Given the description of an element on the screen output the (x, y) to click on. 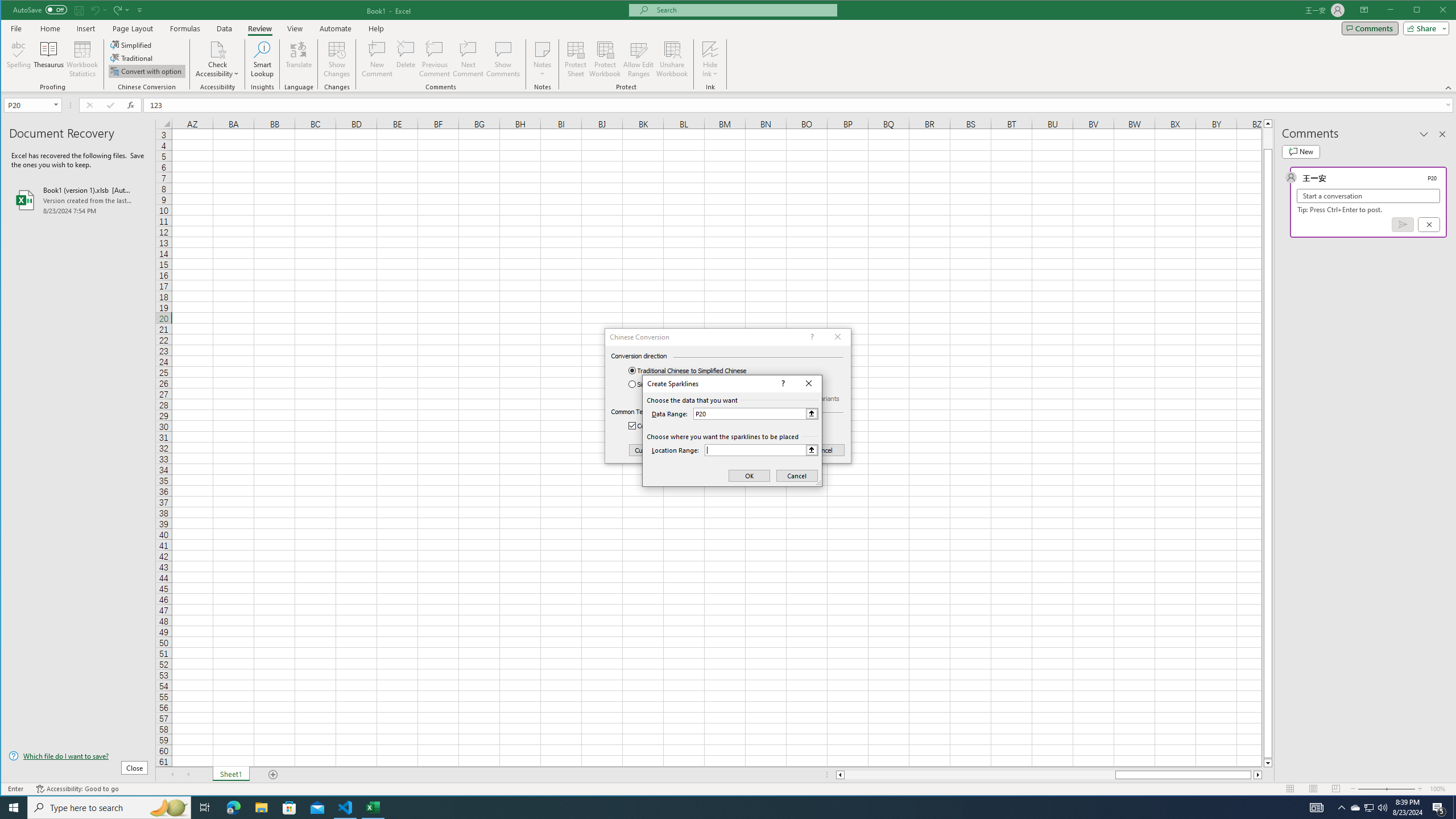
Next Comment (467, 59)
Microsoft Edge (233, 807)
Delete (405, 59)
Excel - 1 running window (373, 807)
Type here to search (108, 807)
Q2790: 100% (1382, 807)
New comment (1300, 151)
